Given the description of an element on the screen output the (x, y) to click on. 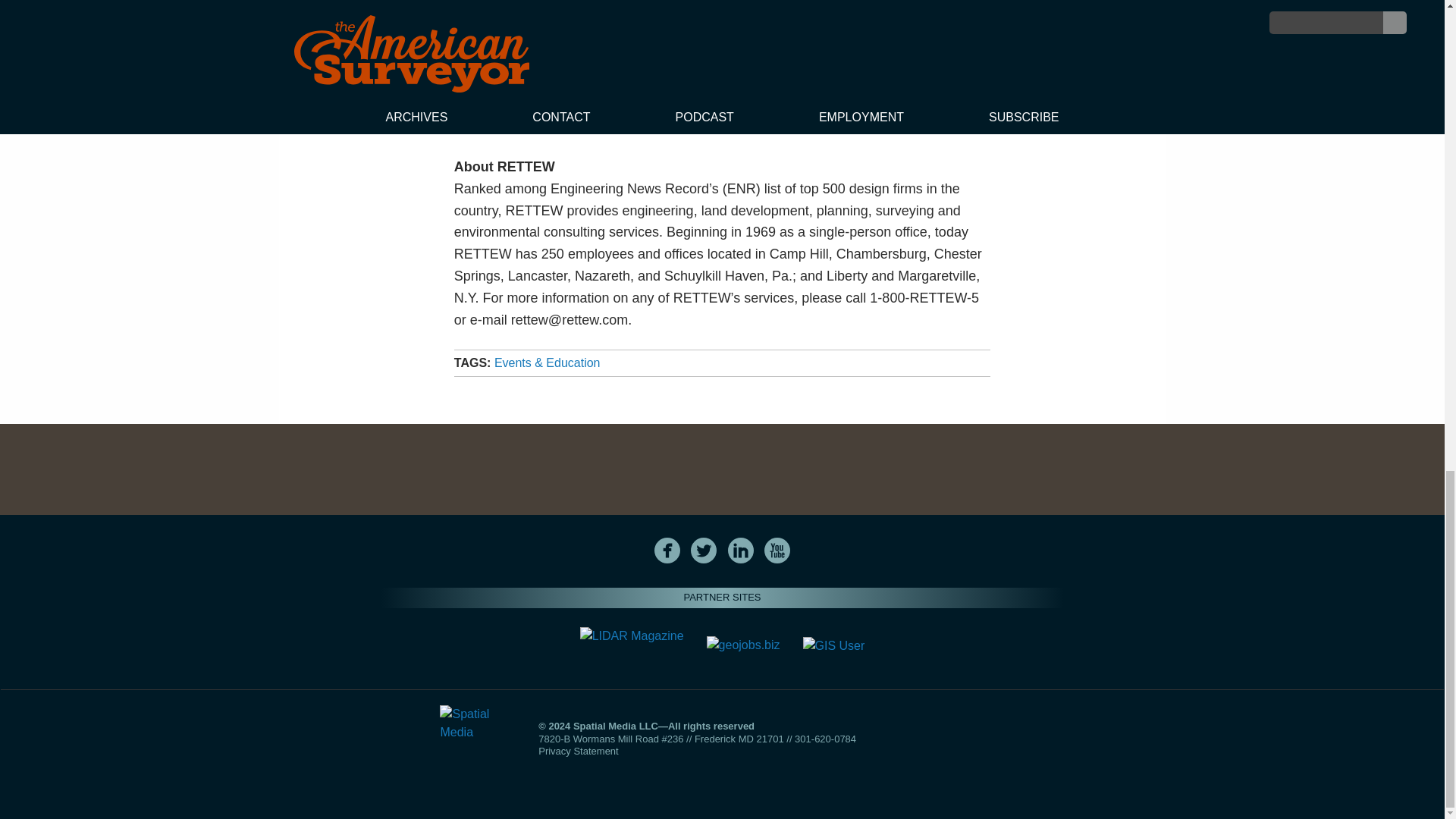
Privacy Statement (578, 750)
icon-sm-youtube (776, 550)
icon-sm-fb (667, 550)
icon-sm-linkedin (740, 550)
icon-sm-twitter (703, 550)
icon-sm-linkedin (741, 550)
icon-sm-twitter (703, 550)
icon-sm-fb (666, 550)
icon-sm-youtube (777, 550)
